Given the description of an element on the screen output the (x, y) to click on. 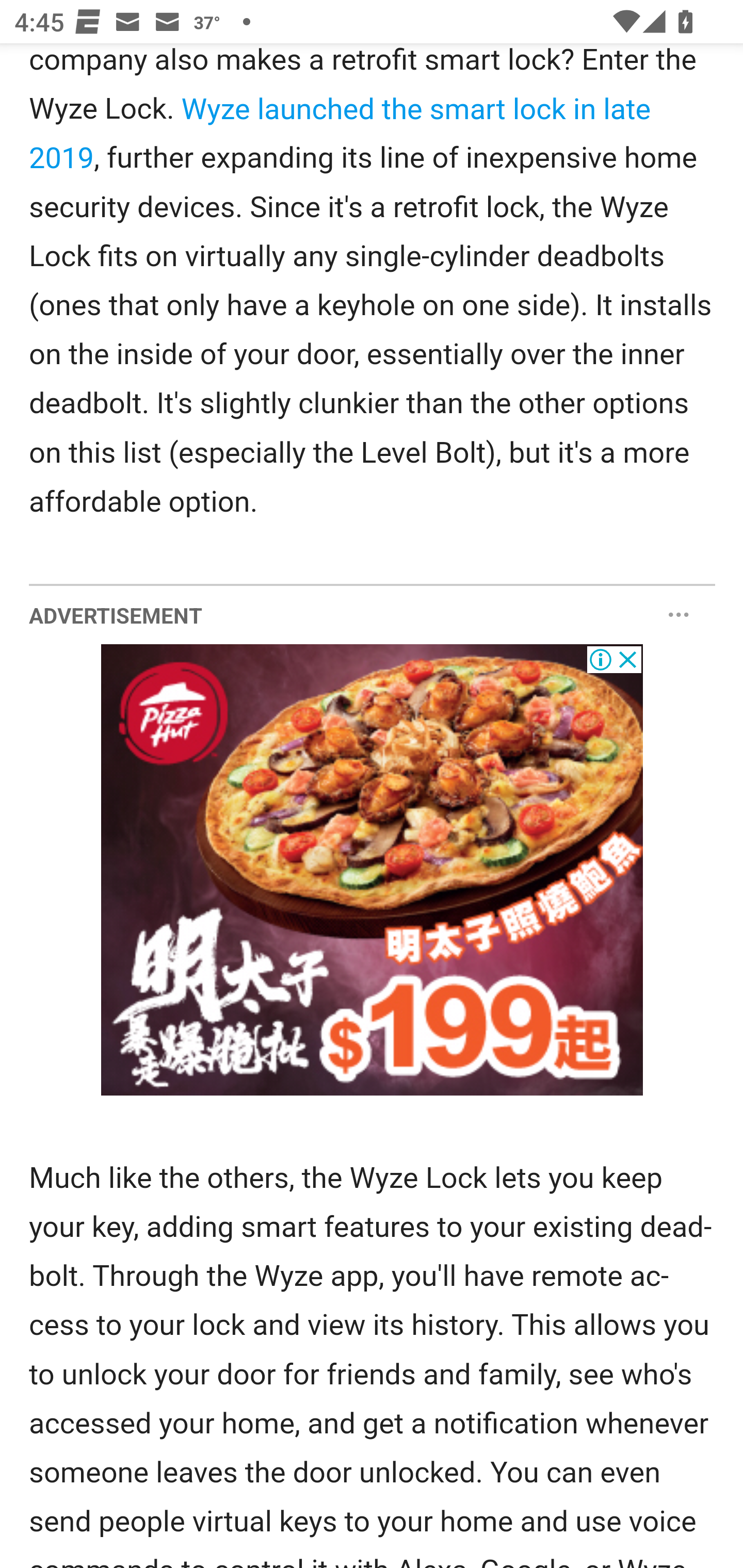
Wyze launched the smart lock in late 2019 (339, 133)
